Given the description of an element on the screen output the (x, y) to click on. 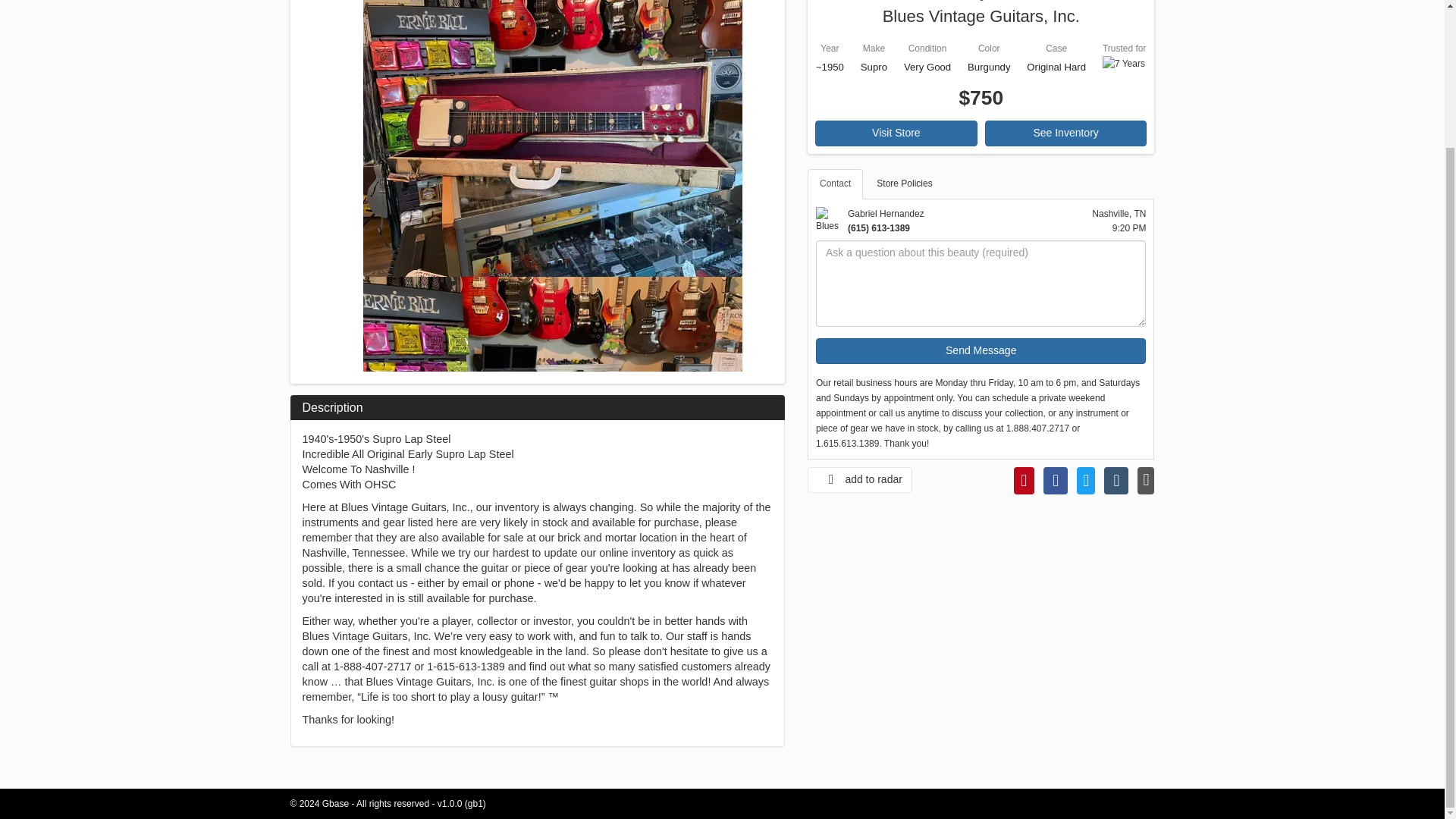
Contact (835, 183)
Send Message (981, 350)
add to radar (860, 479)
Send Message (981, 350)
Store Policies (903, 183)
Visit Store (895, 133)
See Inventory (1066, 133)
